Given the description of an element on the screen output the (x, y) to click on. 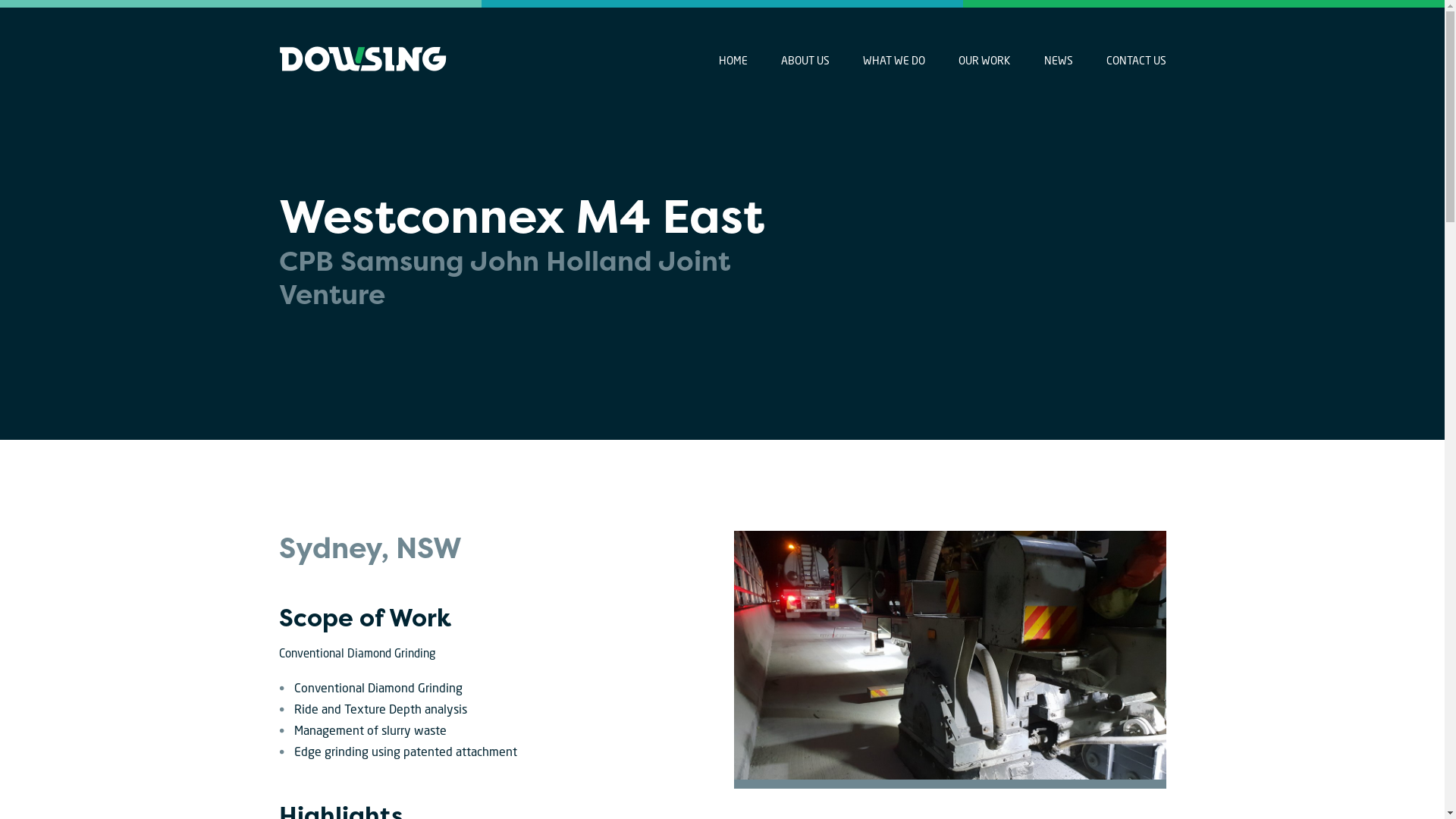
WHAT WE DO Element type: text (893, 60)
OUR WORK Element type: text (984, 60)
CONTACT US Element type: text (1135, 60)
NEWS Element type: text (1057, 60)
HOME Element type: text (732, 60)
ABOUT US Element type: text (805, 60)
